Given the description of an element on the screen output the (x, y) to click on. 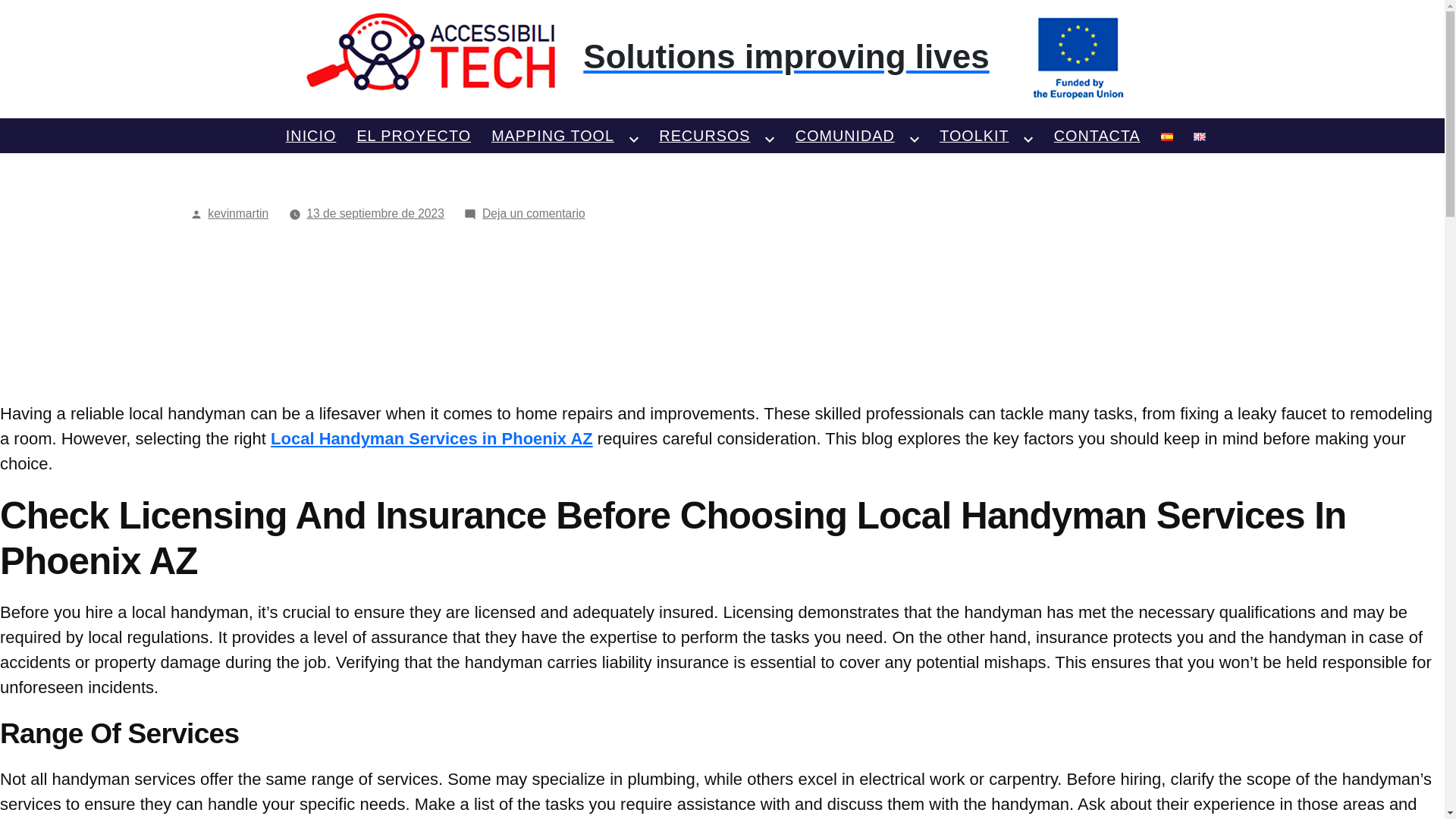
kevinmartin (237, 213)
INICIO (310, 134)
CONTACTA (1096, 134)
13 de septiembre de 2023 (374, 213)
MAPPING TOOL (553, 134)
Solutions improving lives (721, 56)
TOOLKIT (973, 134)
RECURSOS (704, 134)
COMUNIDAD (844, 134)
Imagen de cabecera (721, 56)
EL PROYECTO (413, 134)
Local Handyman Services in Phoenix AZ (431, 438)
